Given the description of an element on the screen output the (x, y) to click on. 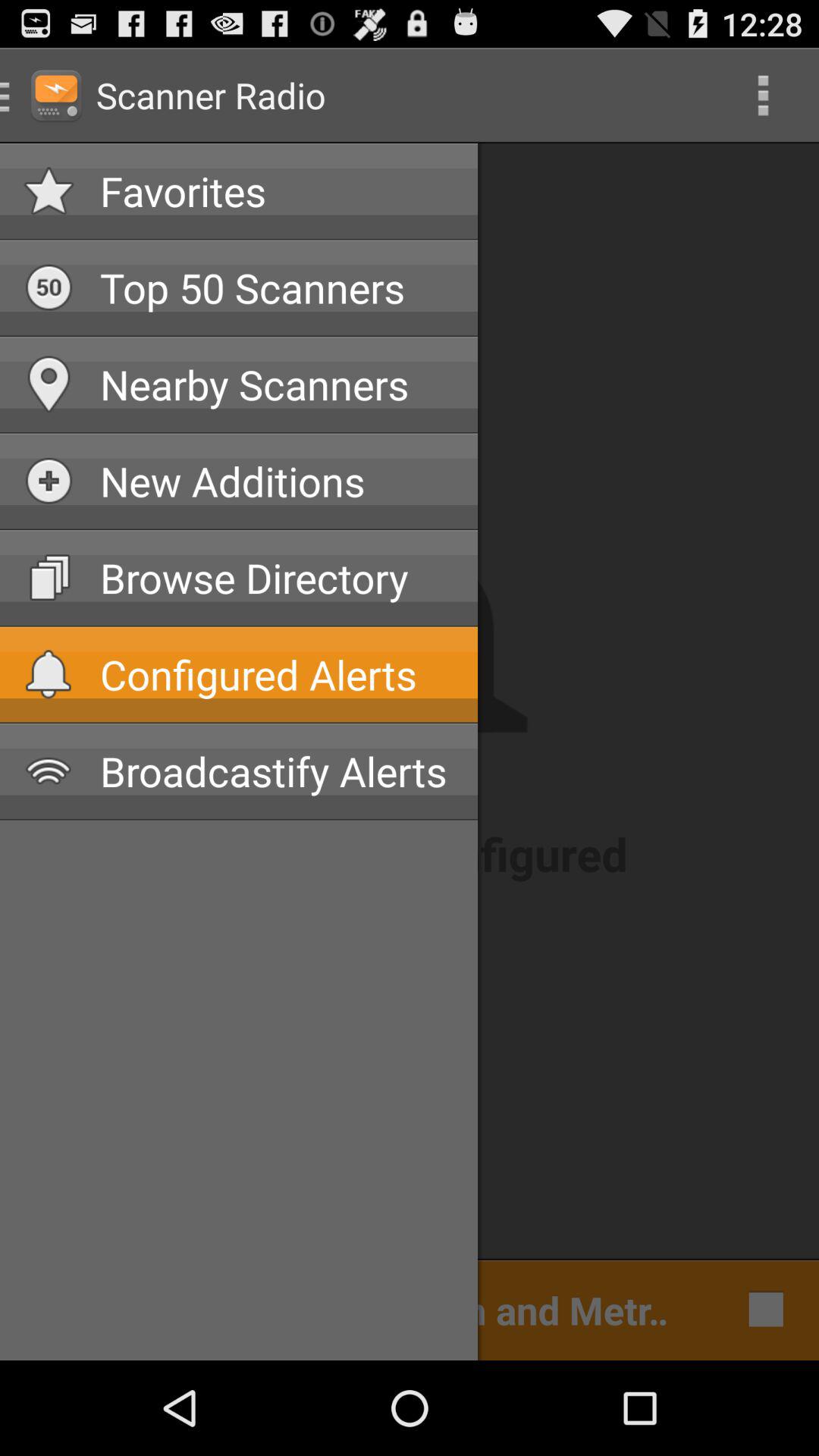
turn on the button at the bottom (352, 1309)
